Given the description of an element on the screen output the (x, y) to click on. 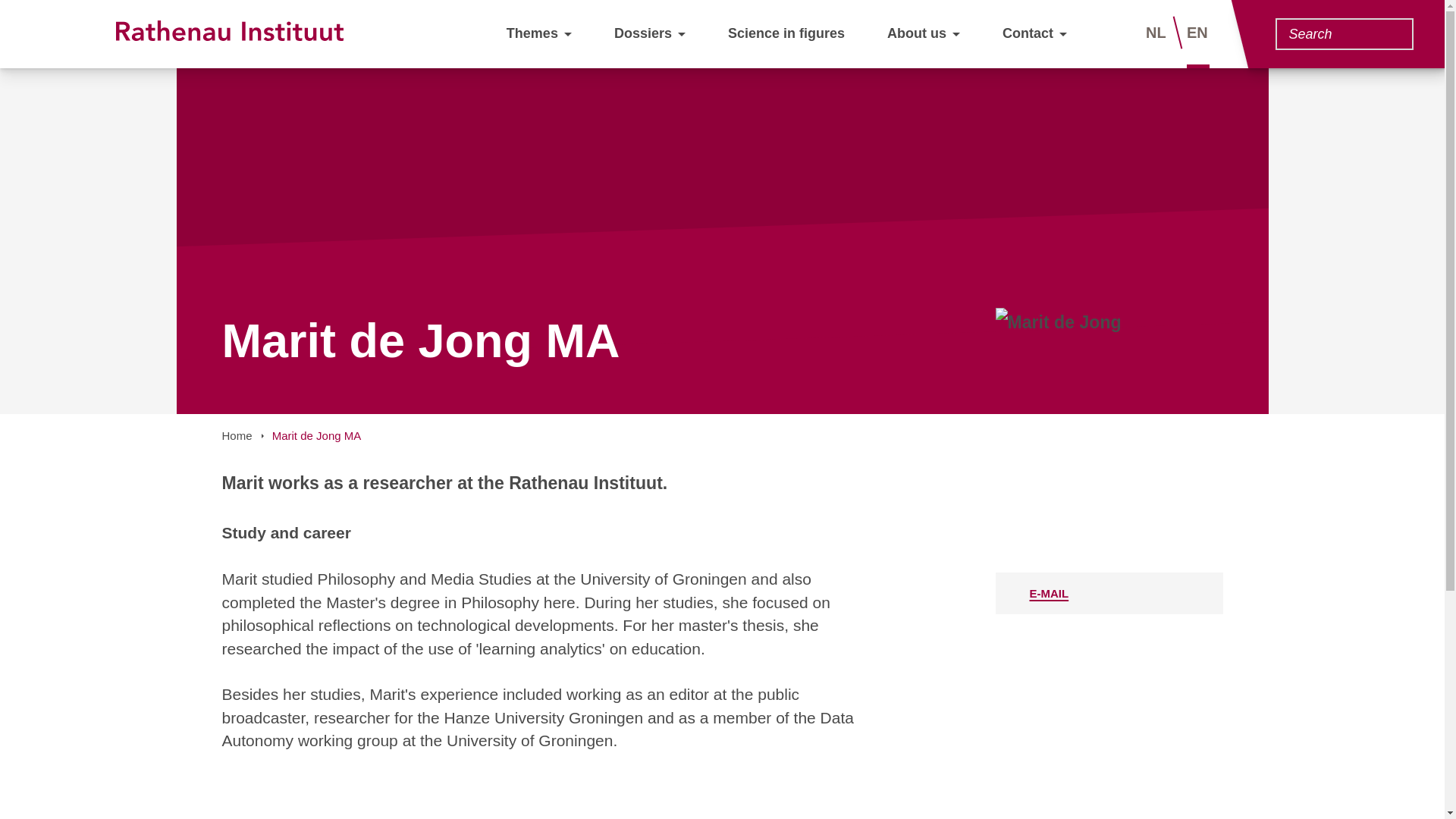
Search (1393, 36)
Enter the terms you wish to search for. (1334, 33)
Home (236, 435)
E-MAIL (1108, 593)
Science in figures (786, 33)
